Given the description of an element on the screen output the (x, y) to click on. 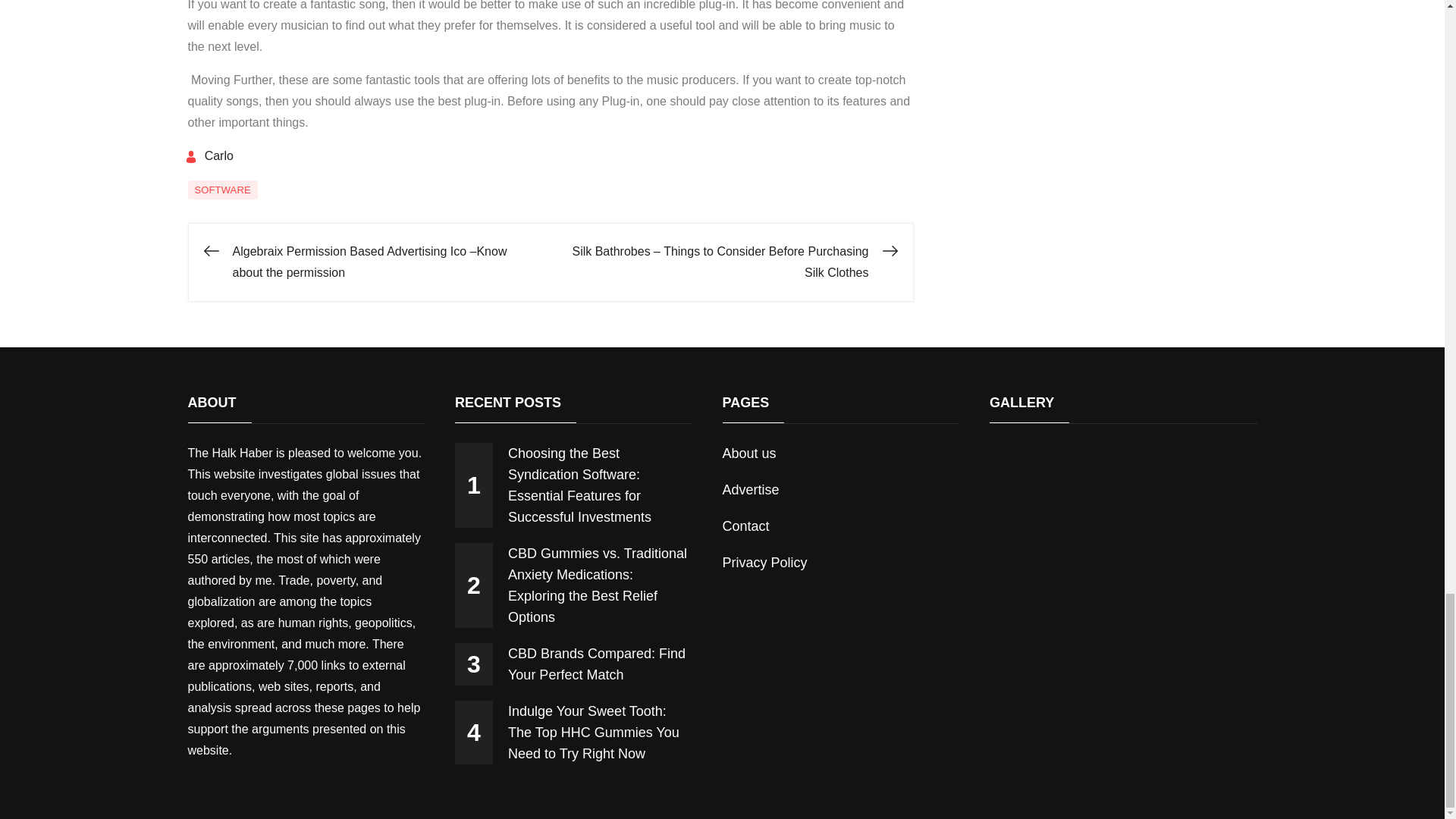
Privacy Policy (764, 562)
SOFTWARE (222, 189)
CBD Brands Compared: Find Your Perfect Match (573, 663)
Carlo (208, 155)
Advertise (750, 489)
Contact (745, 525)
About us (749, 453)
